Given the description of an element on the screen output the (x, y) to click on. 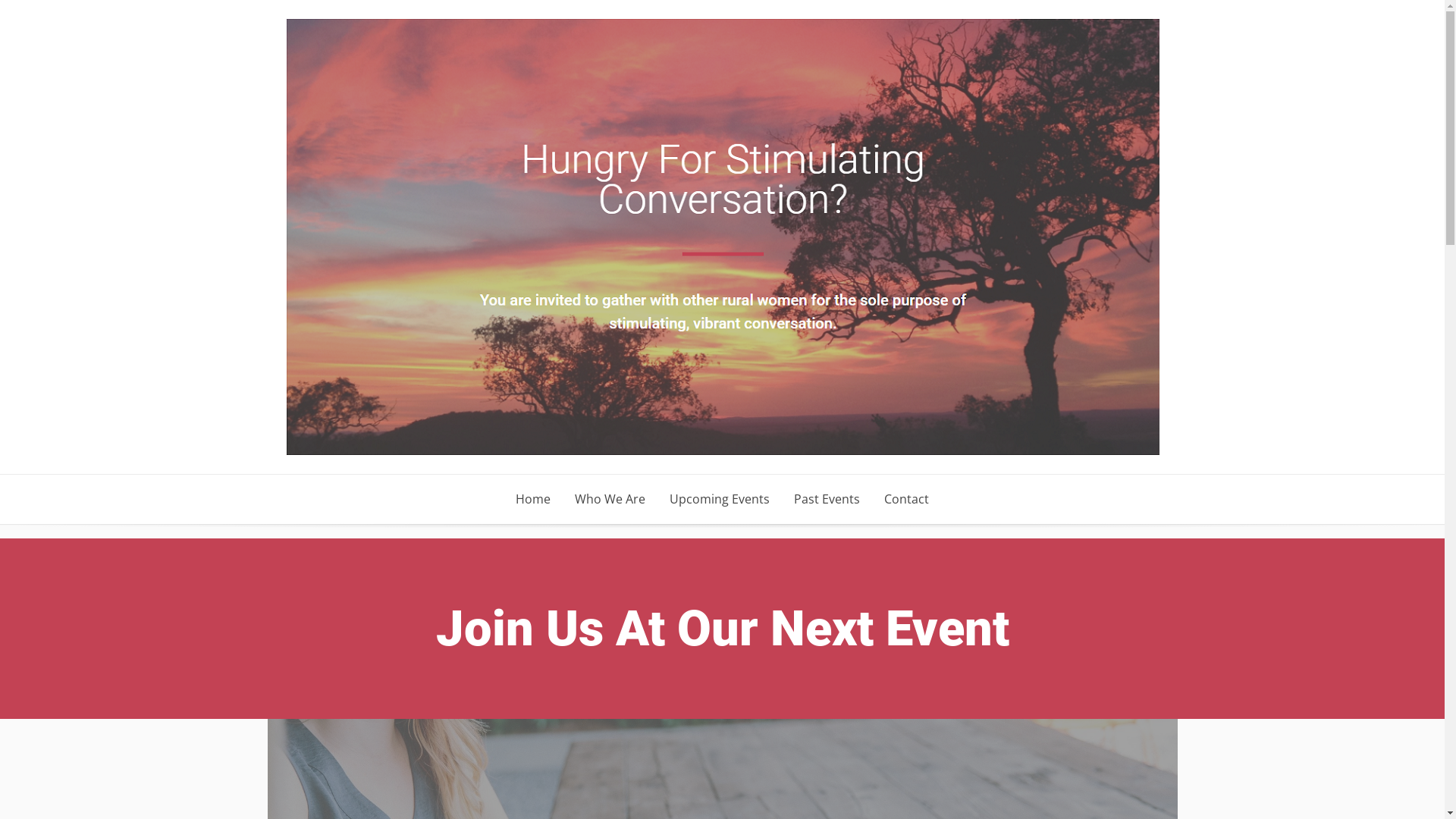
Home Element type: text (533, 499)
Upcoming Events Element type: text (719, 499)
Who We Are Element type: text (609, 499)
Past Events Element type: text (826, 499)
Contact Element type: text (906, 499)
